Given the description of an element on the screen output the (x, y) to click on. 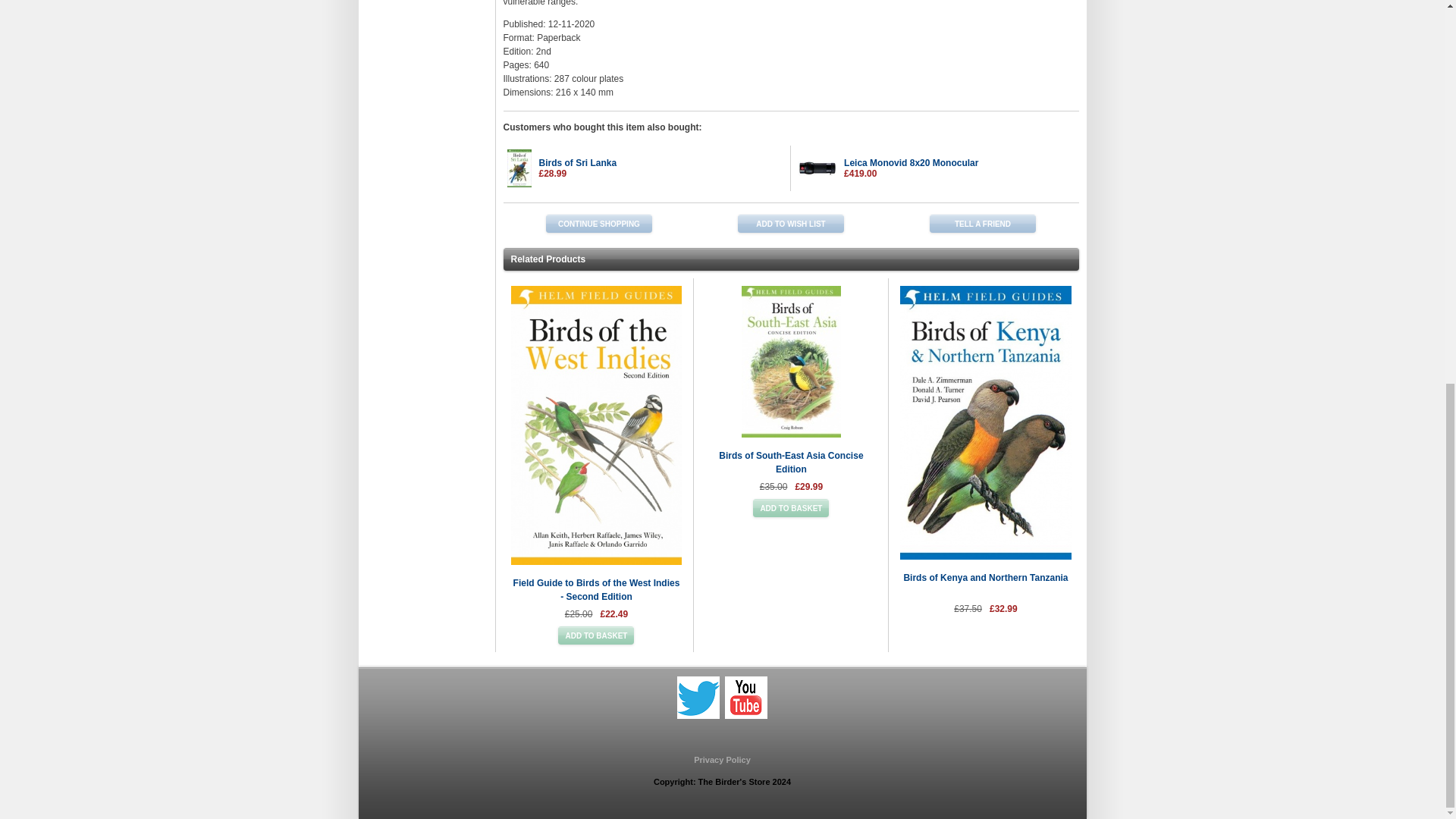
CONTINUE SHOPPING (599, 223)
ADD TO WISH LIST (791, 223)
TELL A FRIEND (982, 223)
Leica Monovid 8x20 Monocular (911, 163)
Birds of Sri Lanka (576, 163)
